Given the description of an element on the screen output the (x, y) to click on. 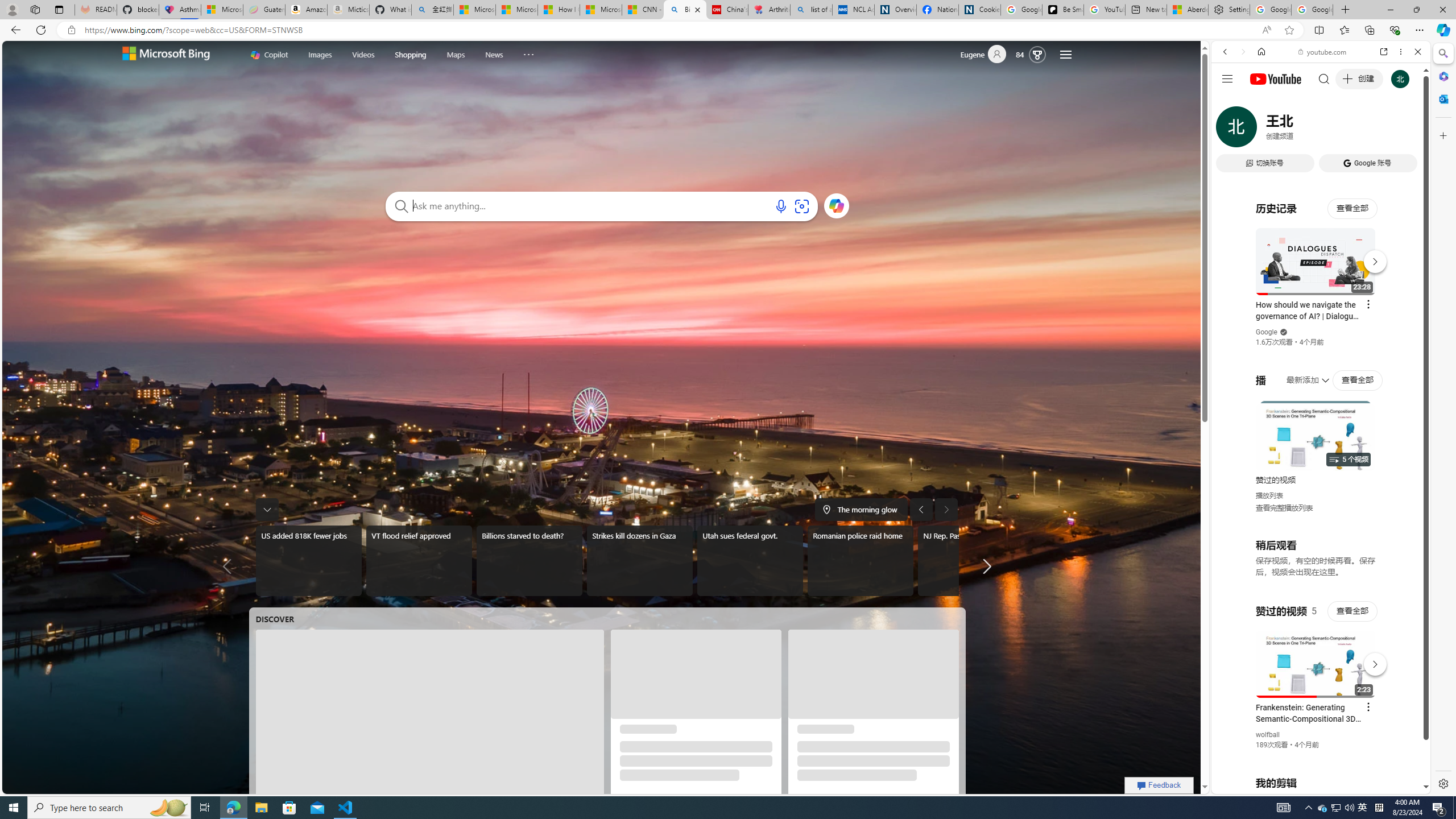
Previous news (229, 566)
Search using voice (781, 205)
